Given the description of an element on the screen output the (x, y) to click on. 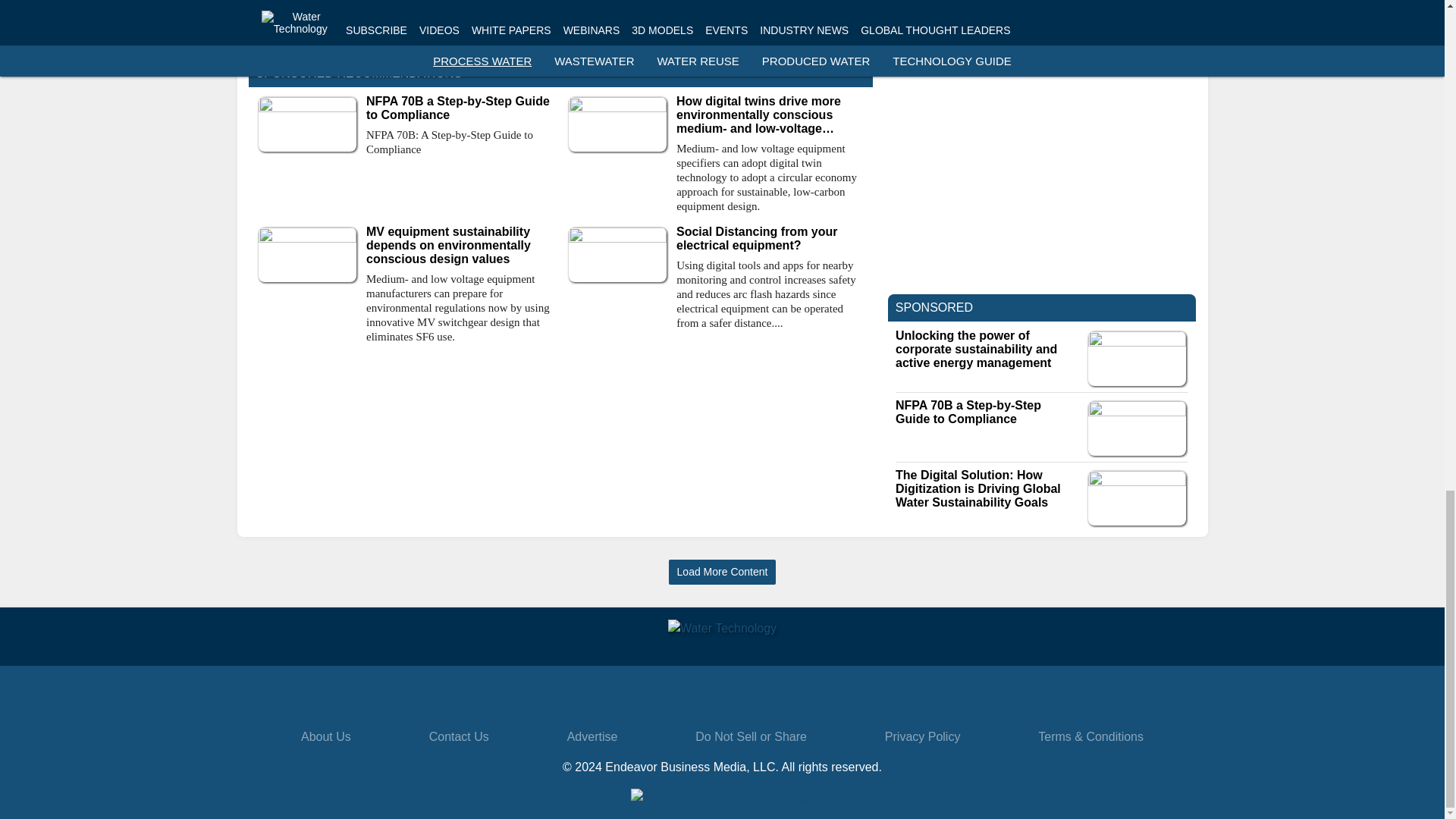
Social Distancing from your electrical equipment? (770, 238)
NFPA 70B a Step-by-Step Guide to Compliance (459, 108)
